Given the description of an element on the screen output the (x, y) to click on. 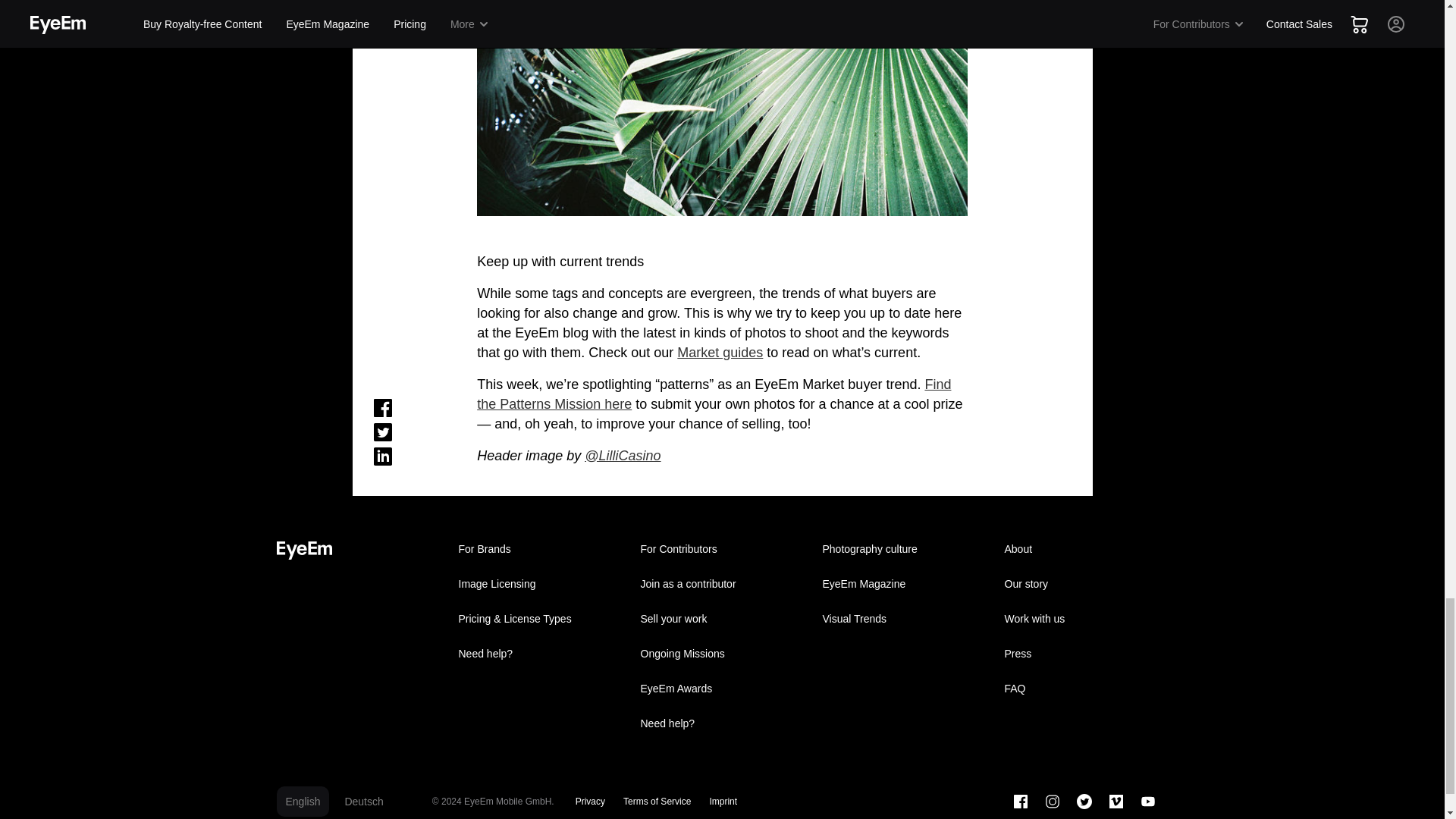
Join as a contributor (721, 582)
Visual Trends (903, 617)
Find the Patterns Mission here (713, 393)
English (302, 800)
Work with us (1085, 617)
Sell your work (721, 617)
Market guides (719, 351)
Press (1085, 652)
Ongoing Missions (721, 652)
Image Licensing (539, 582)
EyeEm Awards (721, 687)
FAQ (1085, 687)
EyeEm Magazine (903, 582)
Our story (1085, 582)
Need help? (721, 722)
